Given the description of an element on the screen output the (x, y) to click on. 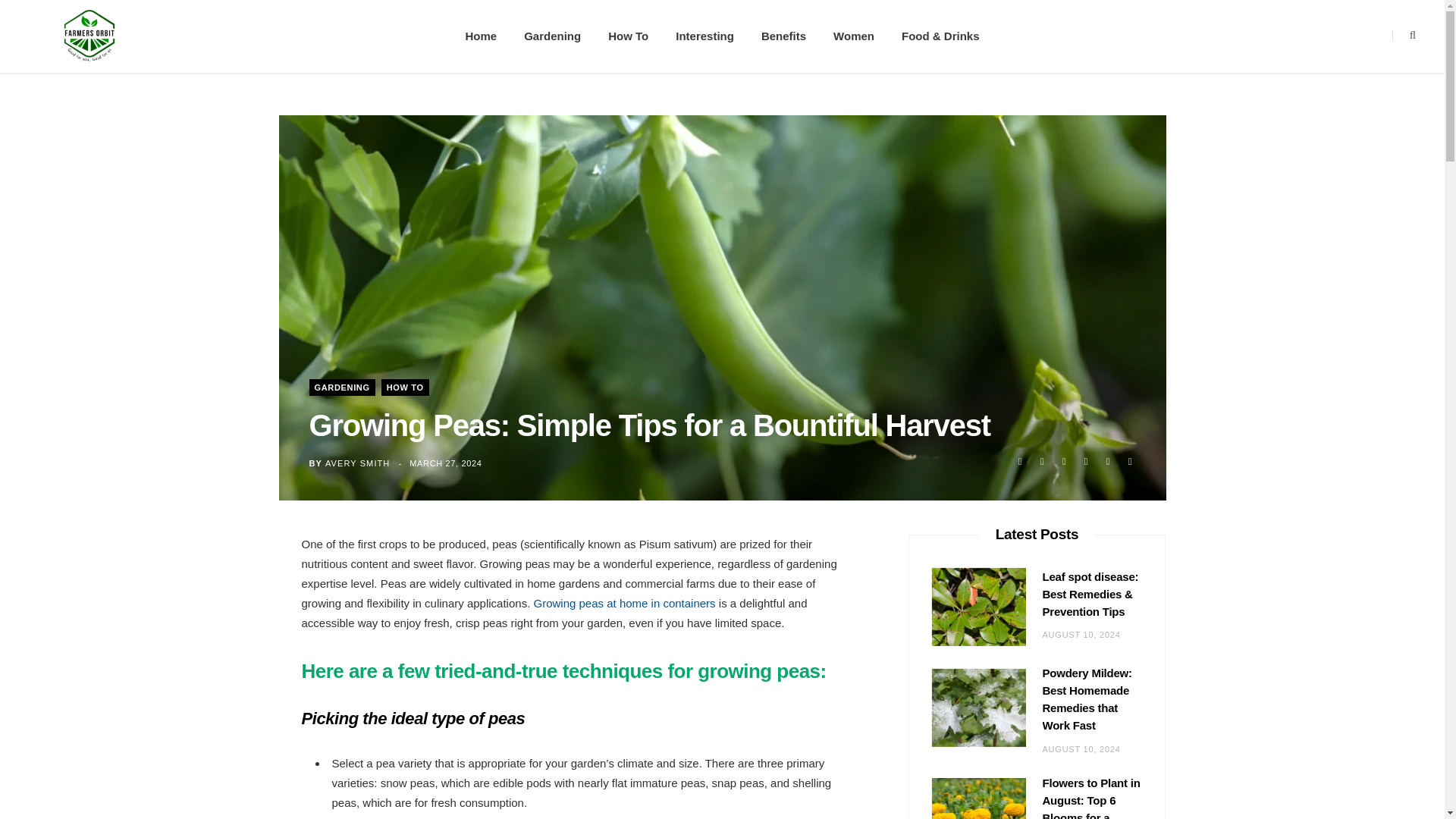
Interesting (705, 36)
Posts by Avery Smith (357, 462)
Email (1086, 461)
Tumblr (1130, 461)
Women (853, 36)
Pinterest (1063, 461)
GARDENING (341, 387)
HOW TO (405, 387)
Share on Twitter (1041, 461)
How To (628, 36)
